Given the description of an element on the screen output the (x, y) to click on. 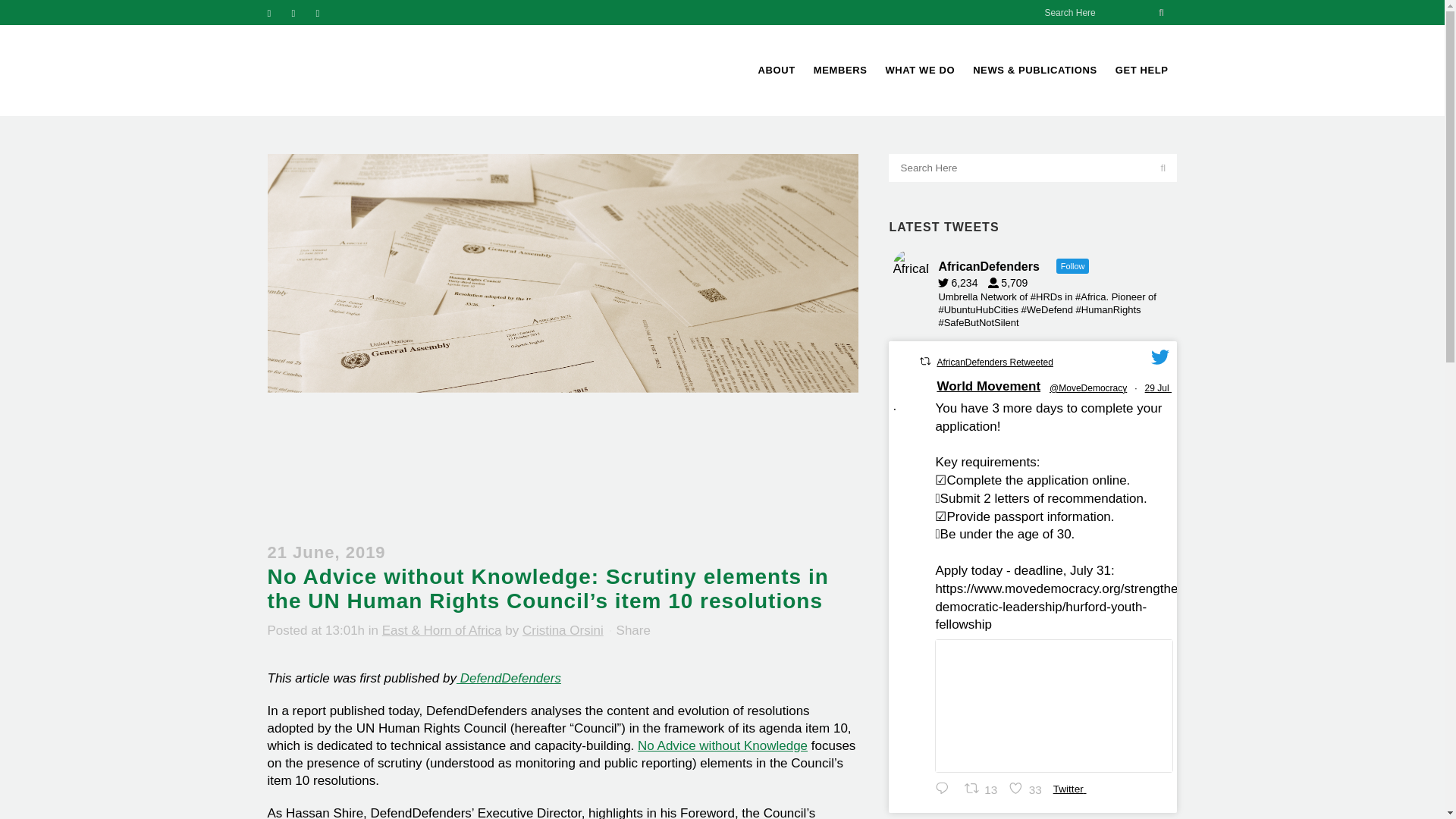
6,234 Tweets (961, 282)
WHAT WE DO (919, 70)
5,709 Followers (1011, 282)
Cristina Orsini (563, 630)
